Given the description of an element on the screen output the (x, y) to click on. 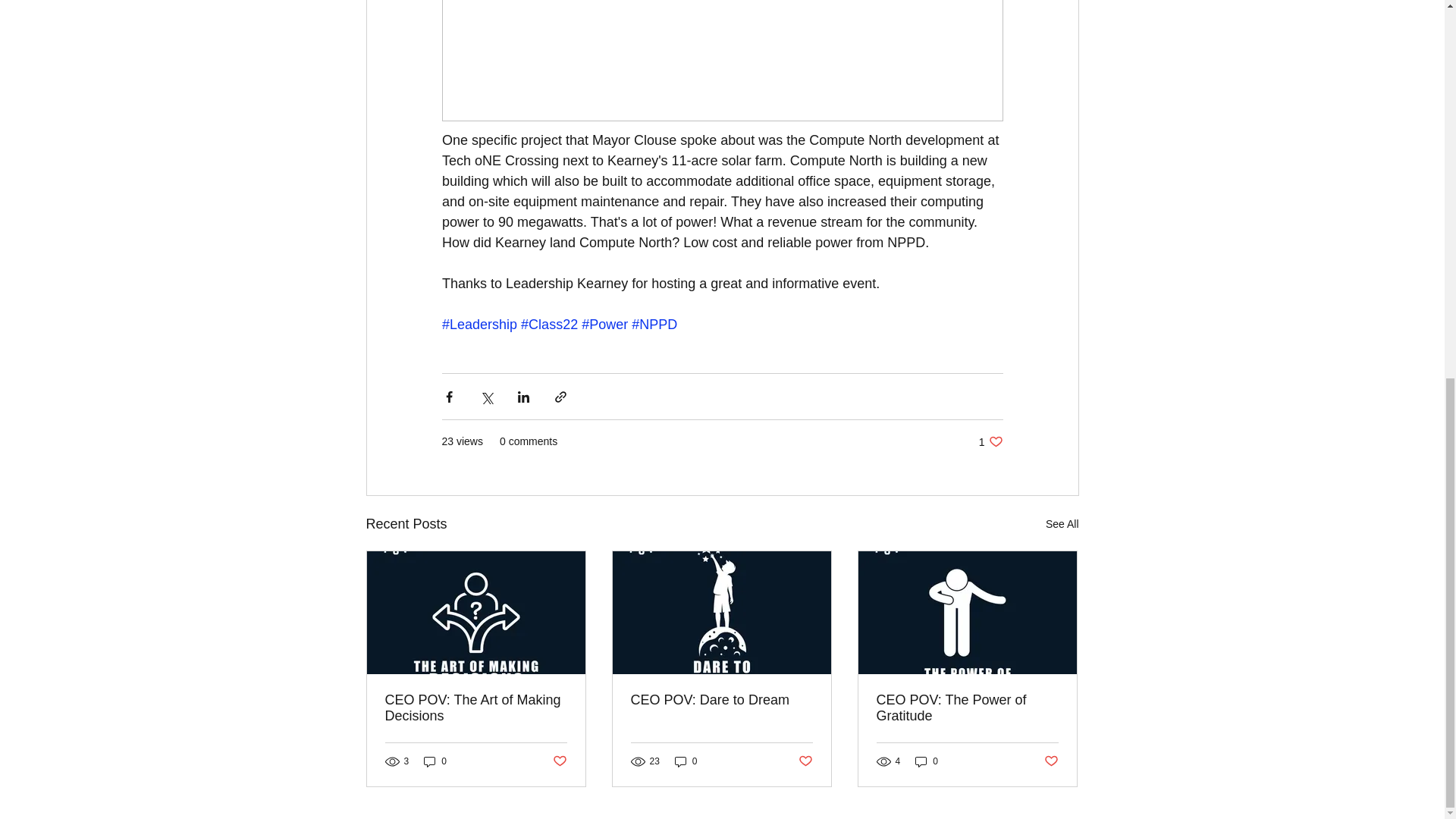
0 (435, 761)
0 (926, 761)
Post not marked as liked (804, 761)
CEO POV: The Art of Making Decisions (476, 707)
Post not marked as liked (1050, 761)
0 (685, 761)
CEO POV: The Power of Gratitude (967, 707)
See All (1061, 524)
CEO POV: Dare to Dream (721, 700)
Post not marked as liked (558, 761)
